Given the description of an element on the screen output the (x, y) to click on. 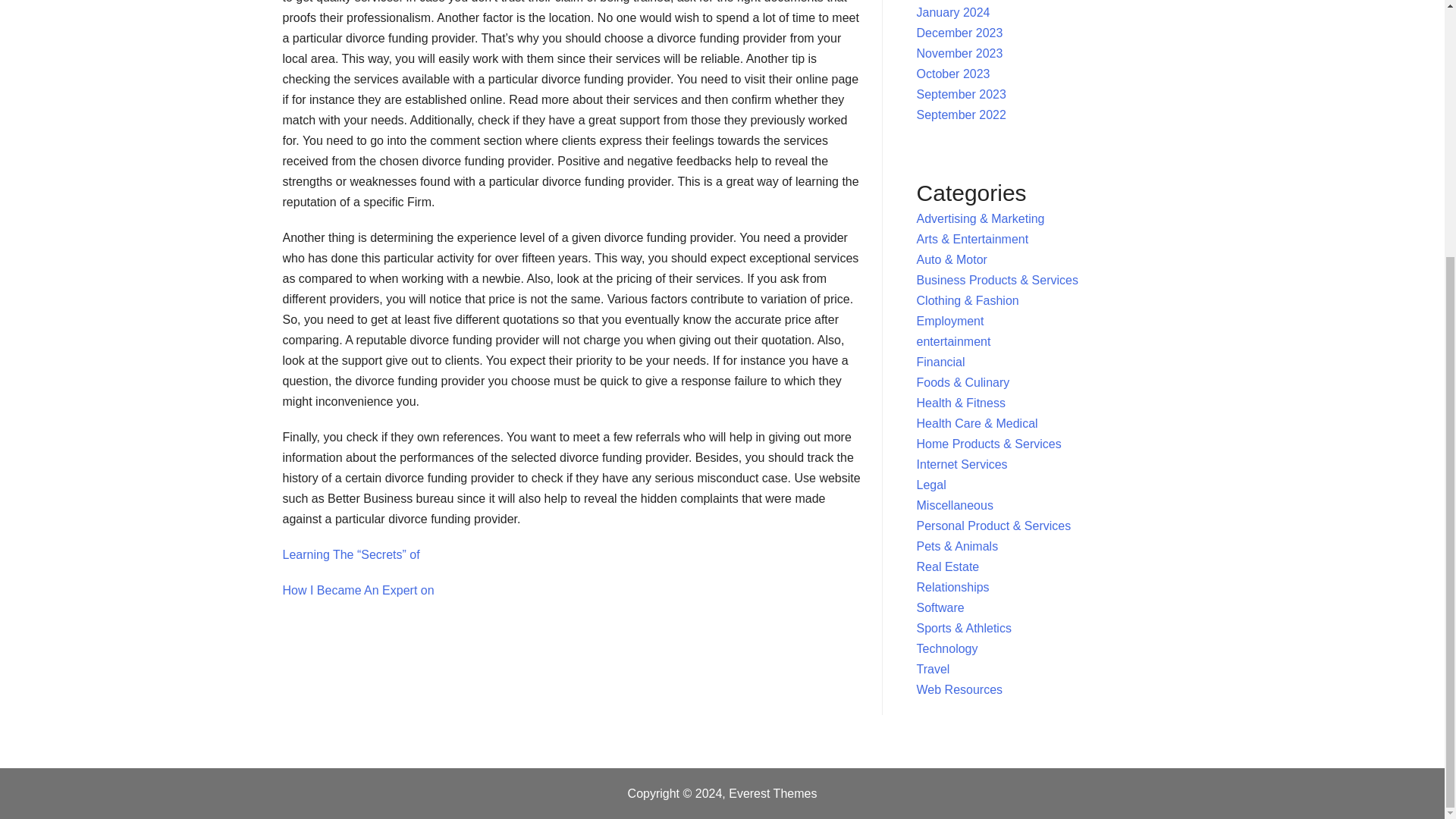
September 2022 (961, 114)
How I Became An Expert on (357, 590)
Financial (941, 361)
December 2023 (960, 32)
November 2023 (960, 52)
October 2023 (953, 73)
September 2023 (961, 93)
Employment (950, 320)
entertainment (954, 341)
January 2024 (953, 11)
